Given the description of an element on the screen output the (x, y) to click on. 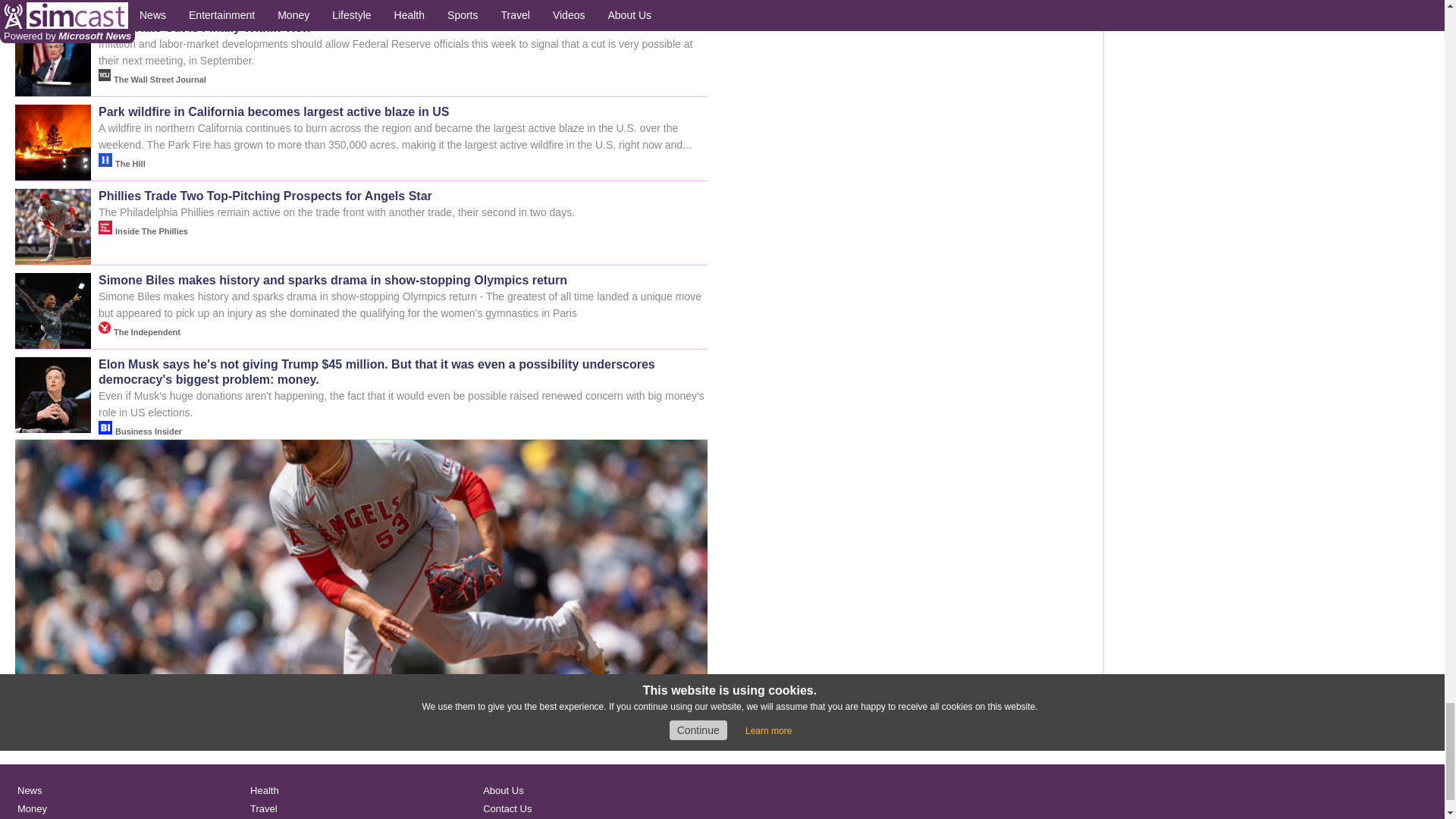
Phillies Trade Two Top-Pitching Prospects for Angels Star (360, 738)
